Given the description of an element on the screen output the (x, y) to click on. 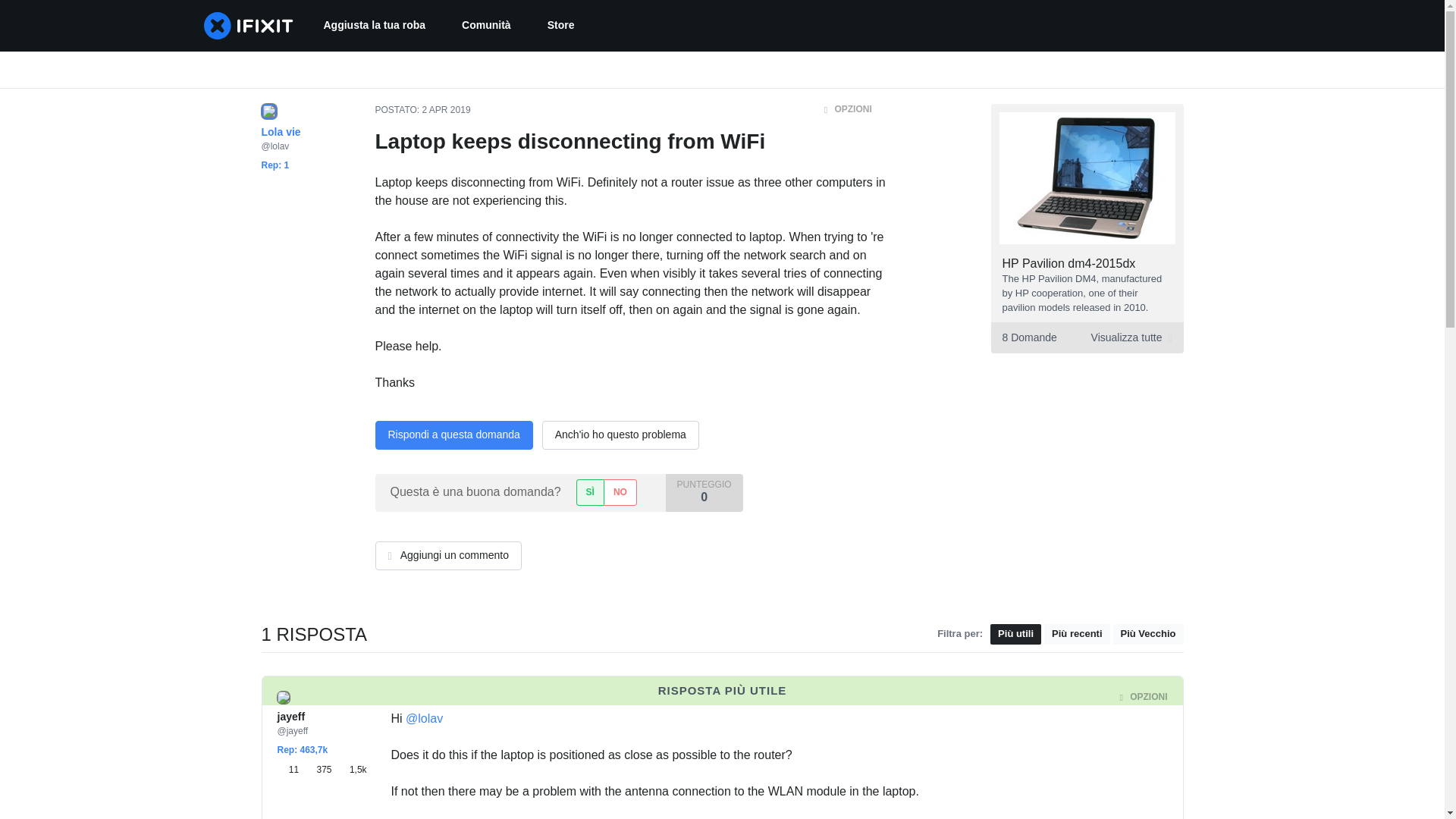
11 375 1,5k (322, 768)
Rispondi a questa domanda (1086, 337)
Store (453, 434)
POSTATO: 2 APR 2019 (560, 25)
Tue, 02 Apr 2019 02:48:48 -0700 (438, 697)
POSTATO: 2 APR 2019 (446, 109)
HP Pavilion dm4-2015dx (422, 109)
Aggiusta la tua roba (1069, 263)
Aggiungi un commento (374, 25)
1509 Gold distintivi (447, 555)
375 Argento distintivi (351, 768)
Anch'io ho questo problema (320, 768)
11 Bronzo distintivi (619, 434)
NO (291, 768)
